Given the description of an element on the screen output the (x, y) to click on. 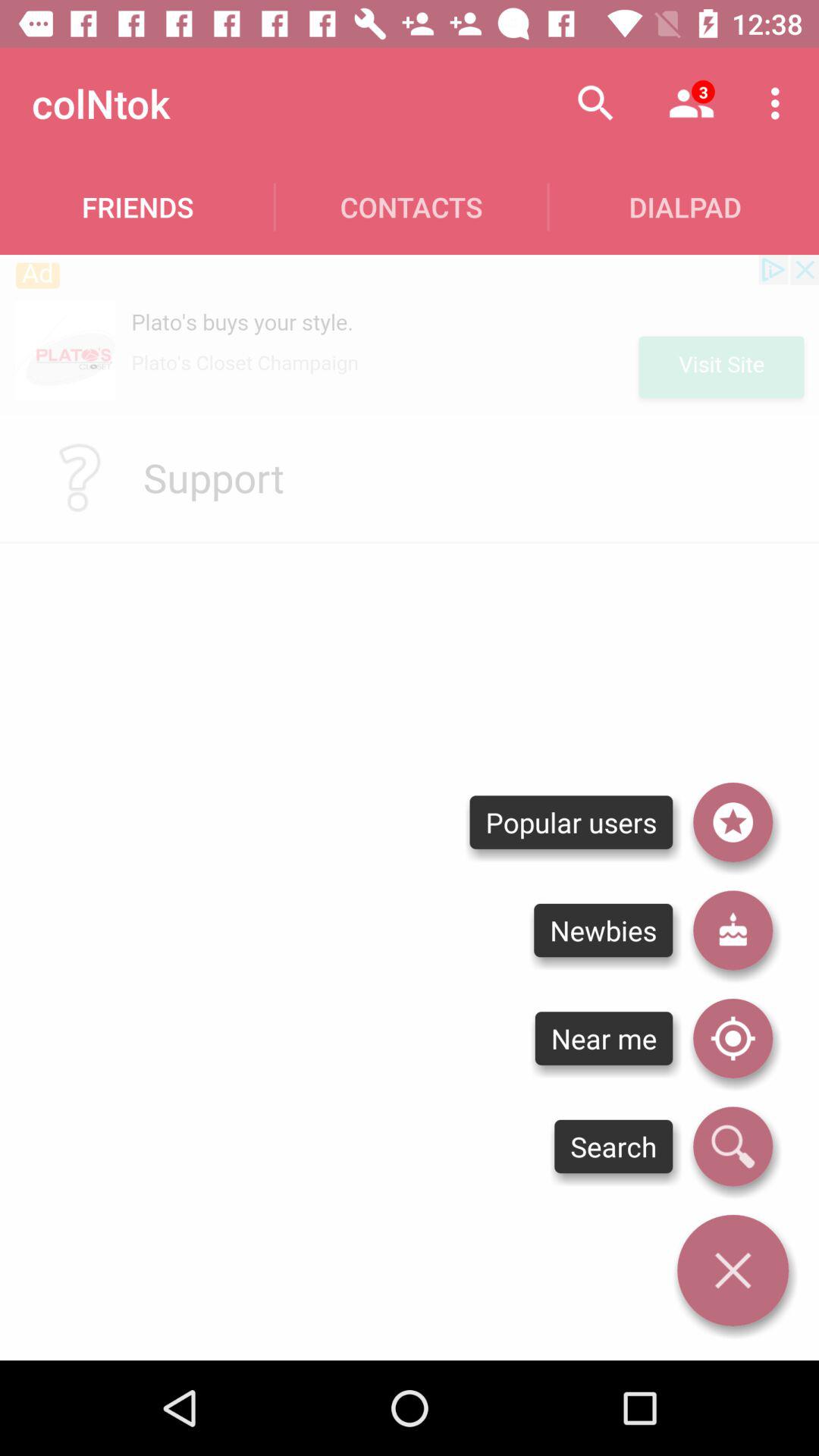
toggle location (733, 1038)
